Given the description of an element on the screen output the (x, y) to click on. 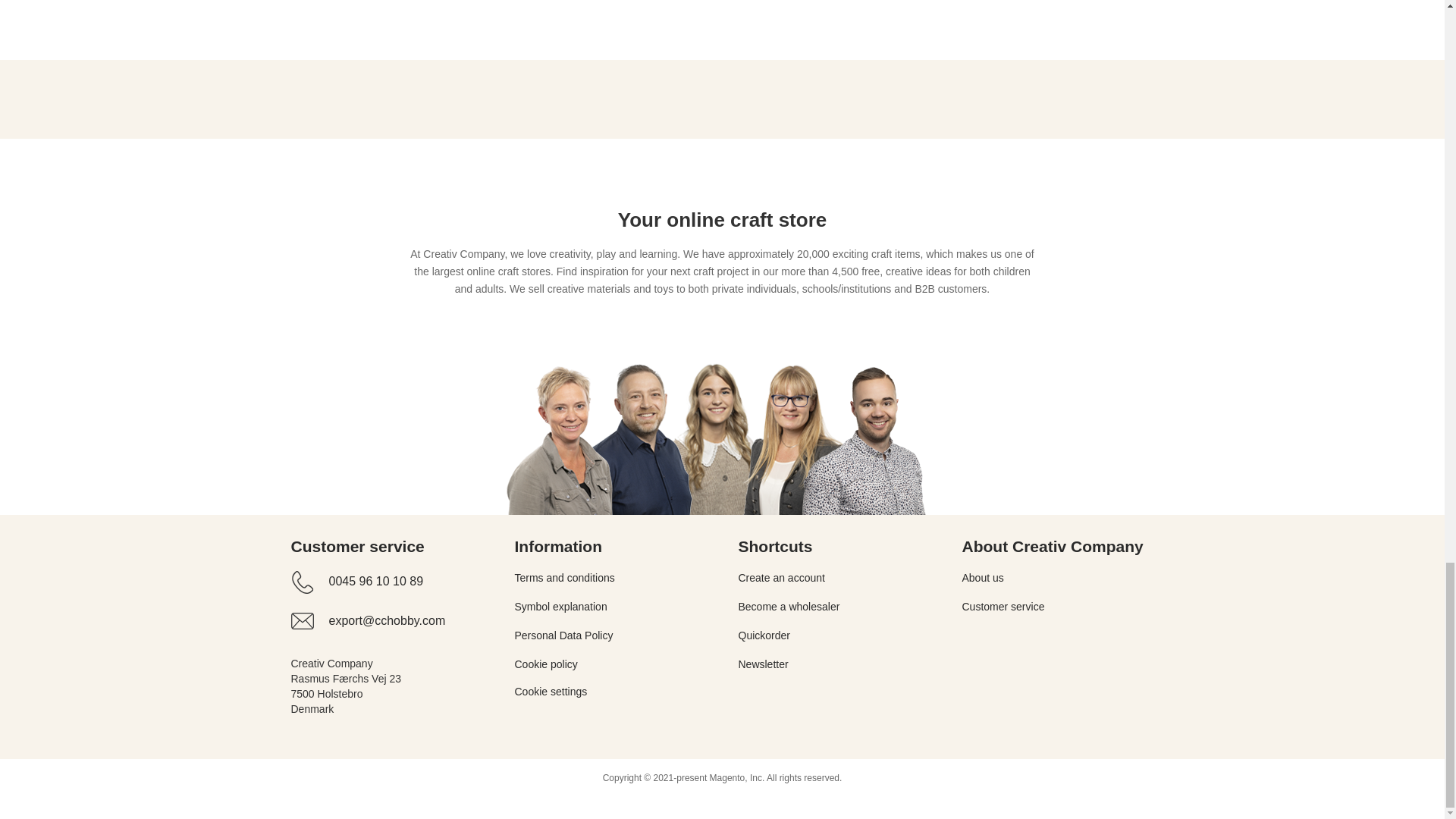
Terms and conditions (563, 577)
Symbol explanation (560, 606)
Personal Data Policy (562, 635)
